Given the description of an element on the screen output the (x, y) to click on. 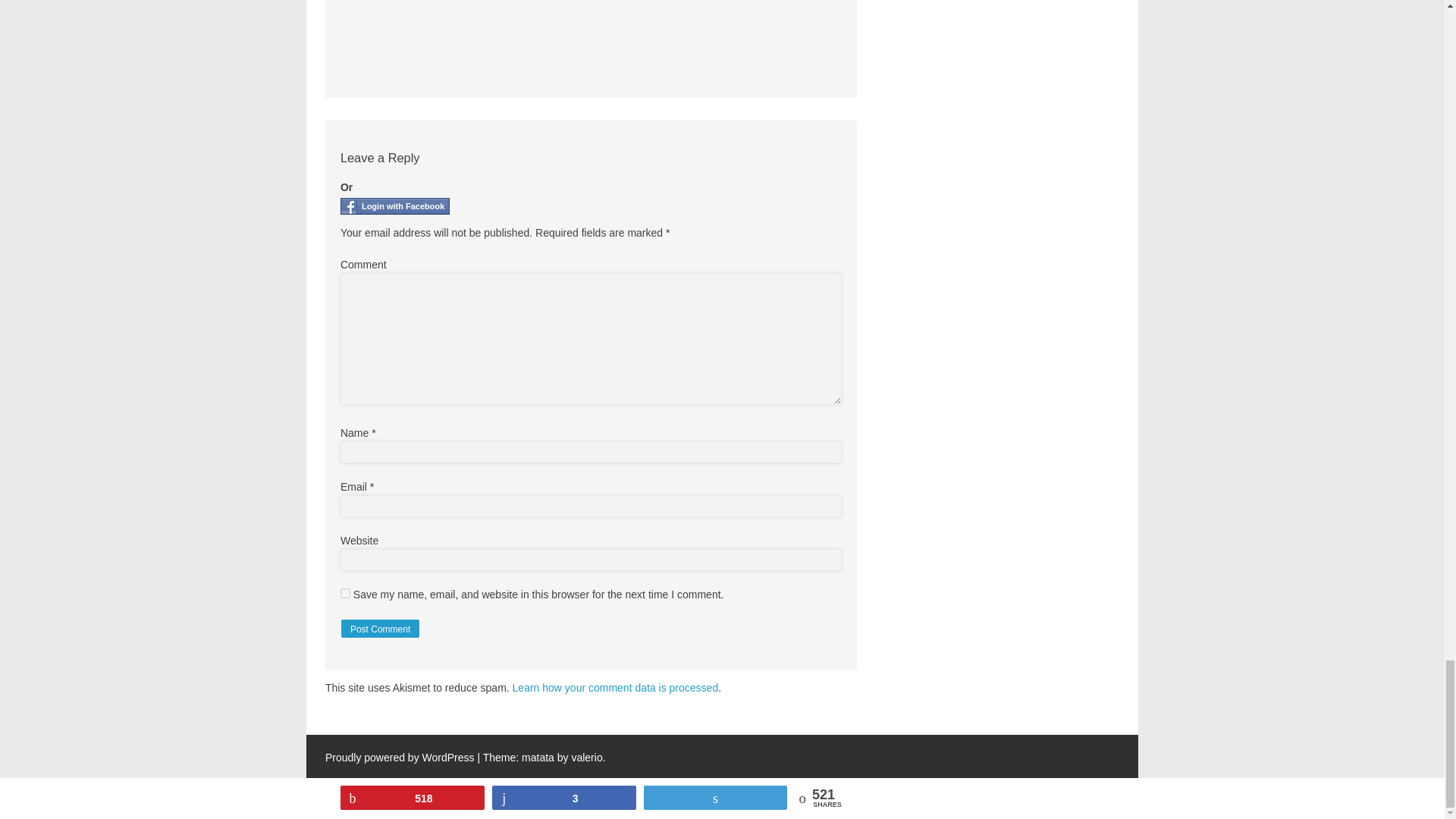
Login with Facebook (394, 206)
Post Comment (380, 628)
yes (345, 593)
